Given the description of an element on the screen output the (x, y) to click on. 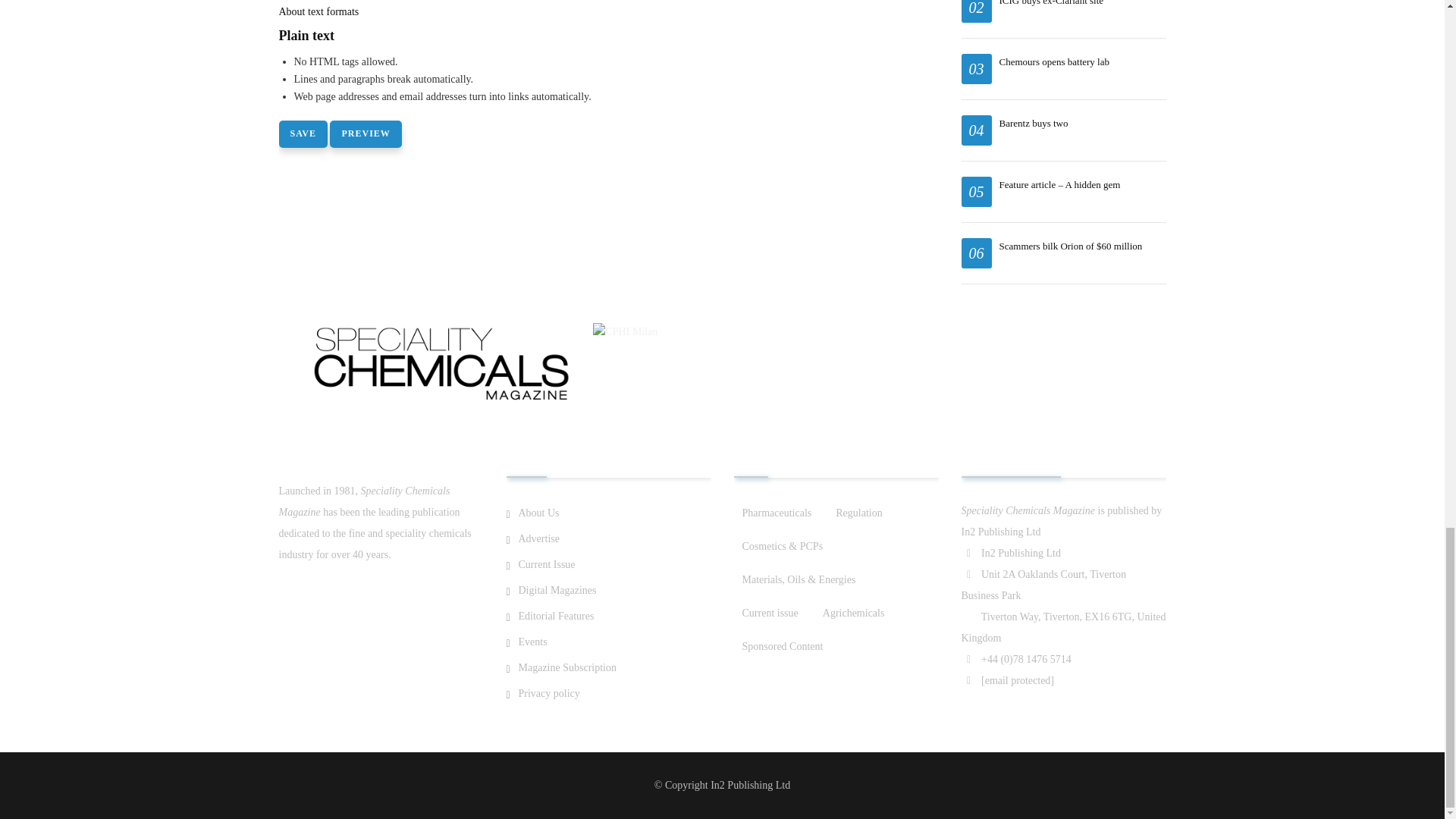
Home (441, 353)
Save (303, 134)
Preview (365, 134)
